Given the description of an element on the screen output the (x, y) to click on. 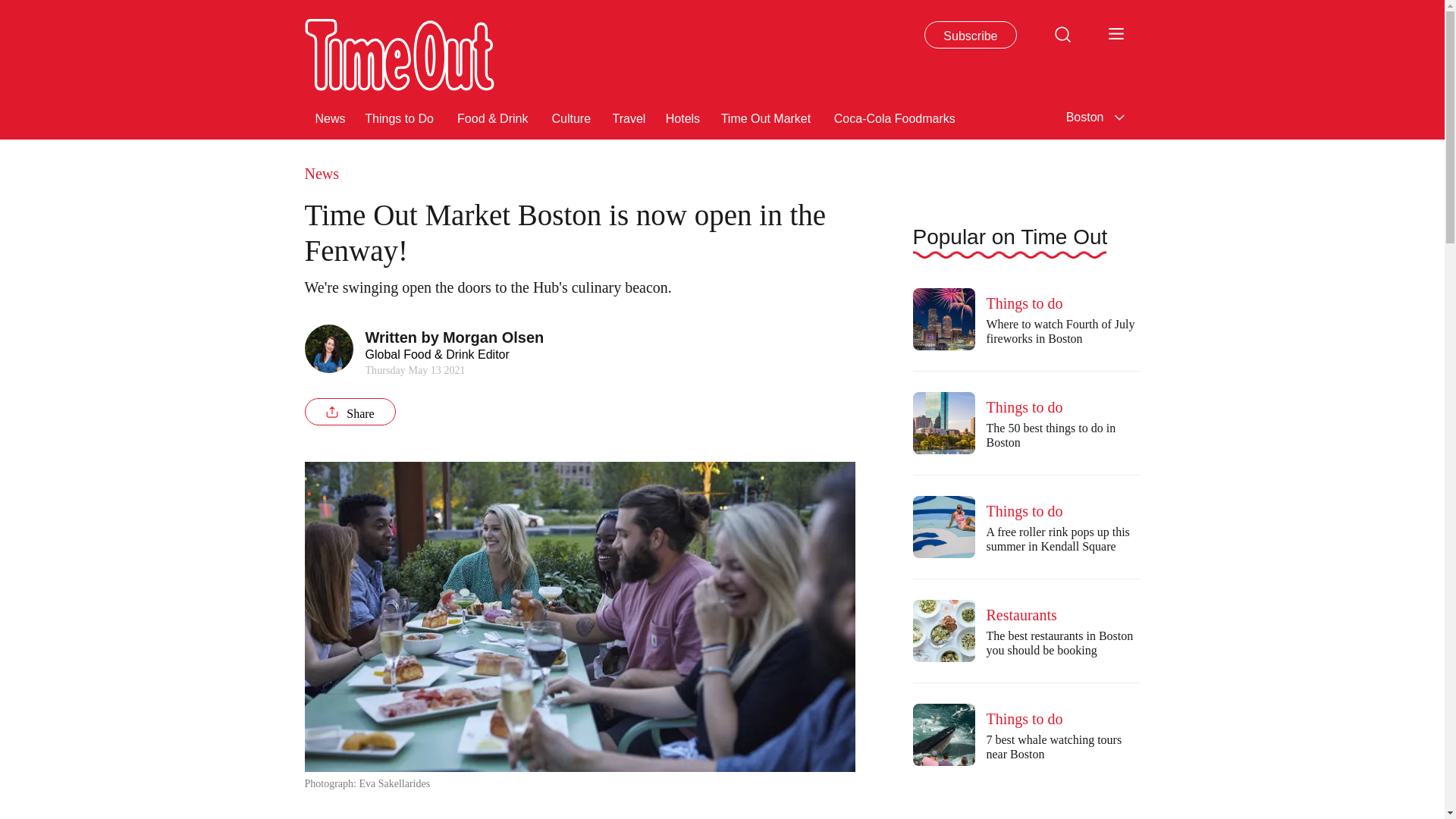
News (331, 116)
Coca-Cola Foodmarks (897, 116)
Things to Do (401, 116)
Culture (572, 116)
News (331, 116)
Subscribe (970, 34)
The 50 best things to do in Boston (943, 423)
Go to the content (10, 7)
A free roller rink pops up this summer in Kendall Square (943, 526)
Things to Do (401, 116)
Where to watch Fourth of July fireworks in Boston (943, 319)
Search (1061, 33)
7 best whale watching tours near Boston (943, 734)
